Given the description of an element on the screen output the (x, y) to click on. 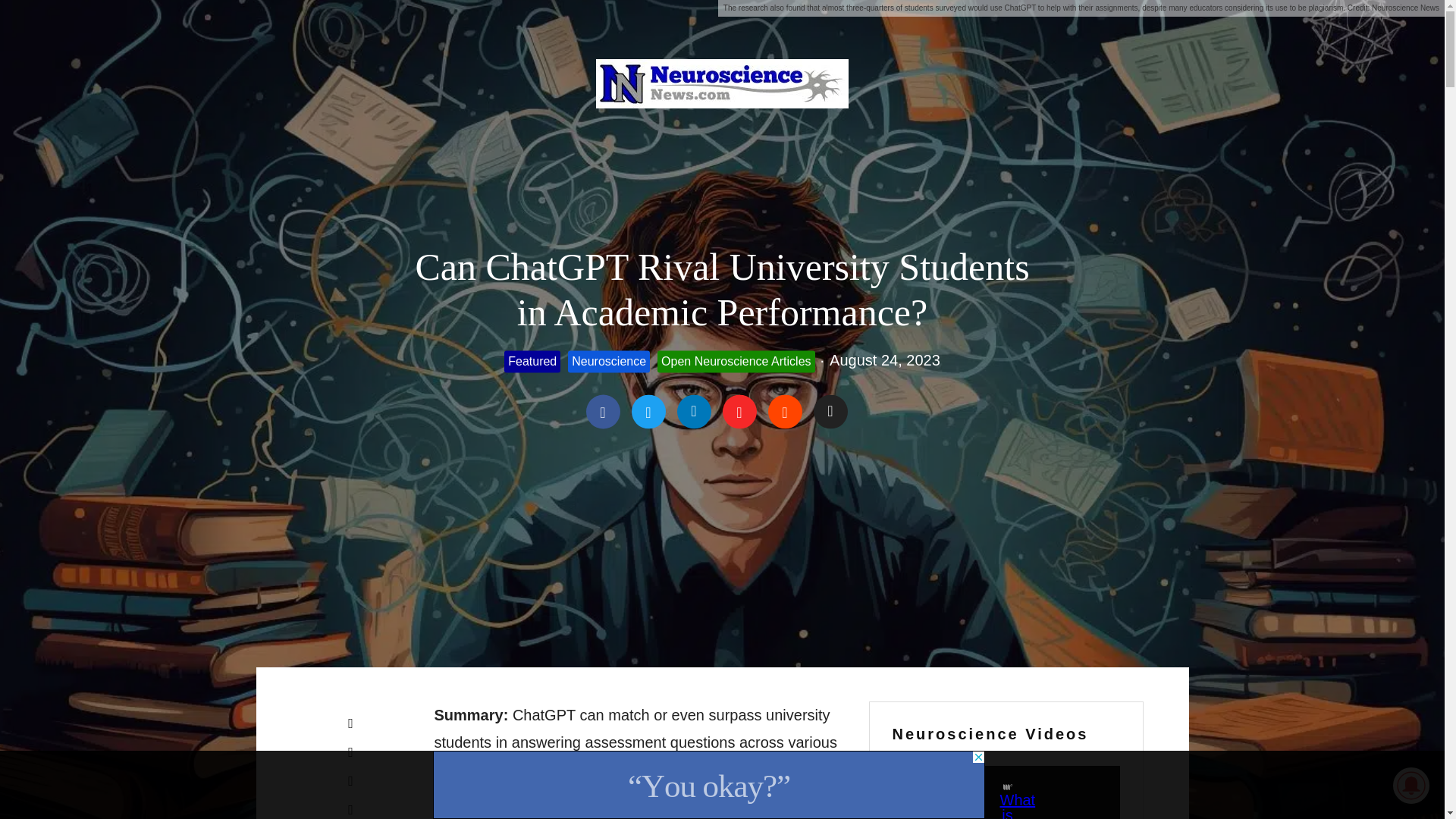
Featured (531, 361)
Open Neuroscience Articles (735, 361)
Neuroscience (608, 361)
